Given the description of an element on the screen output the (x, y) to click on. 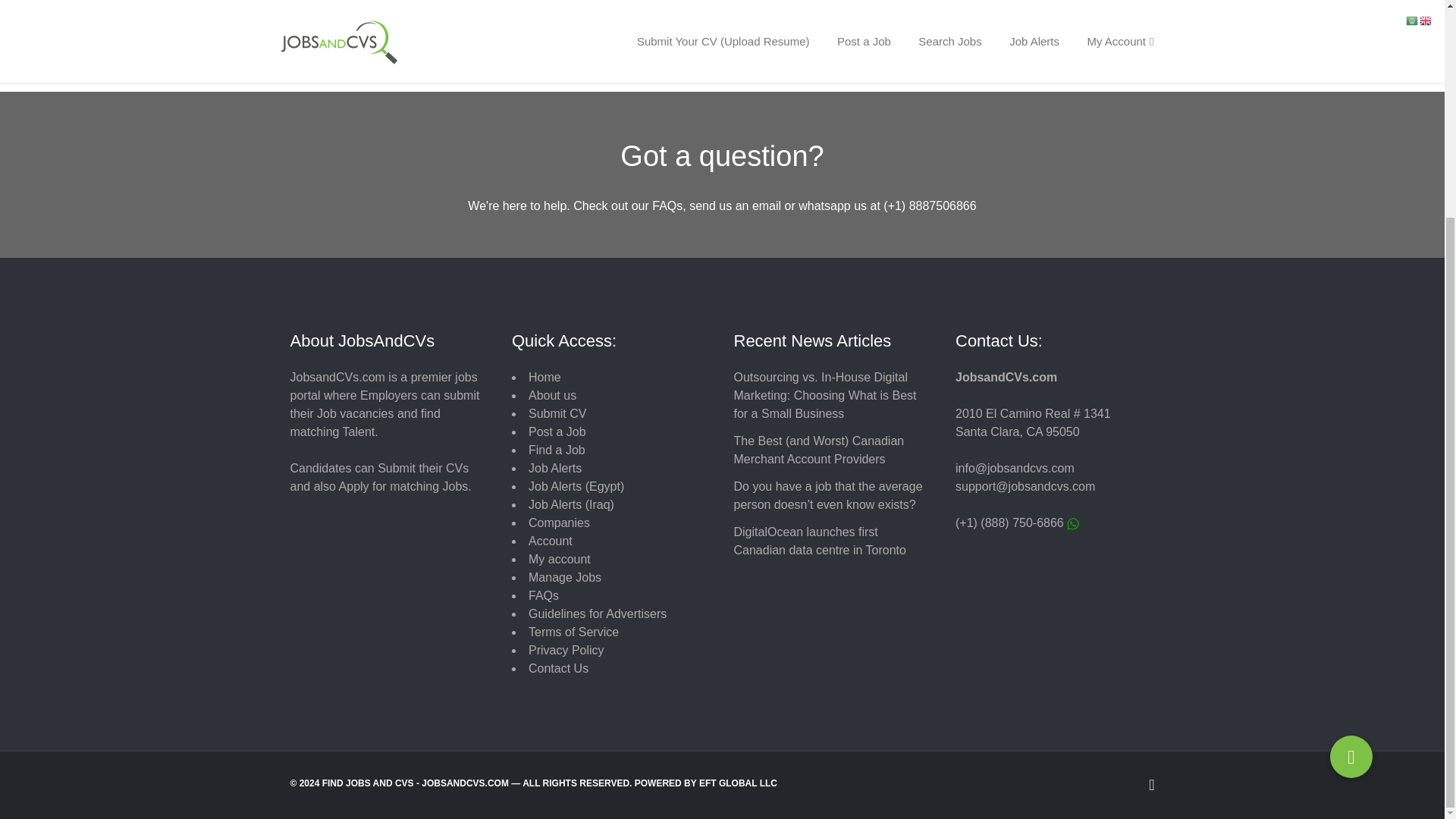
DigitalOcean launches first Canadian data centre in Toronto (819, 540)
About us (552, 395)
Home (544, 377)
EFT GLOBAL LLC (737, 783)
My account (559, 558)
Companies (558, 522)
Account (550, 540)
Privacy Policy (566, 649)
Guidelines for Advertisers (597, 613)
Terms of Service (573, 631)
Post a Job (557, 431)
Submit CV (557, 413)
Contact Us (558, 667)
Job Alerts (554, 468)
